Given the description of an element on the screen output the (x, y) to click on. 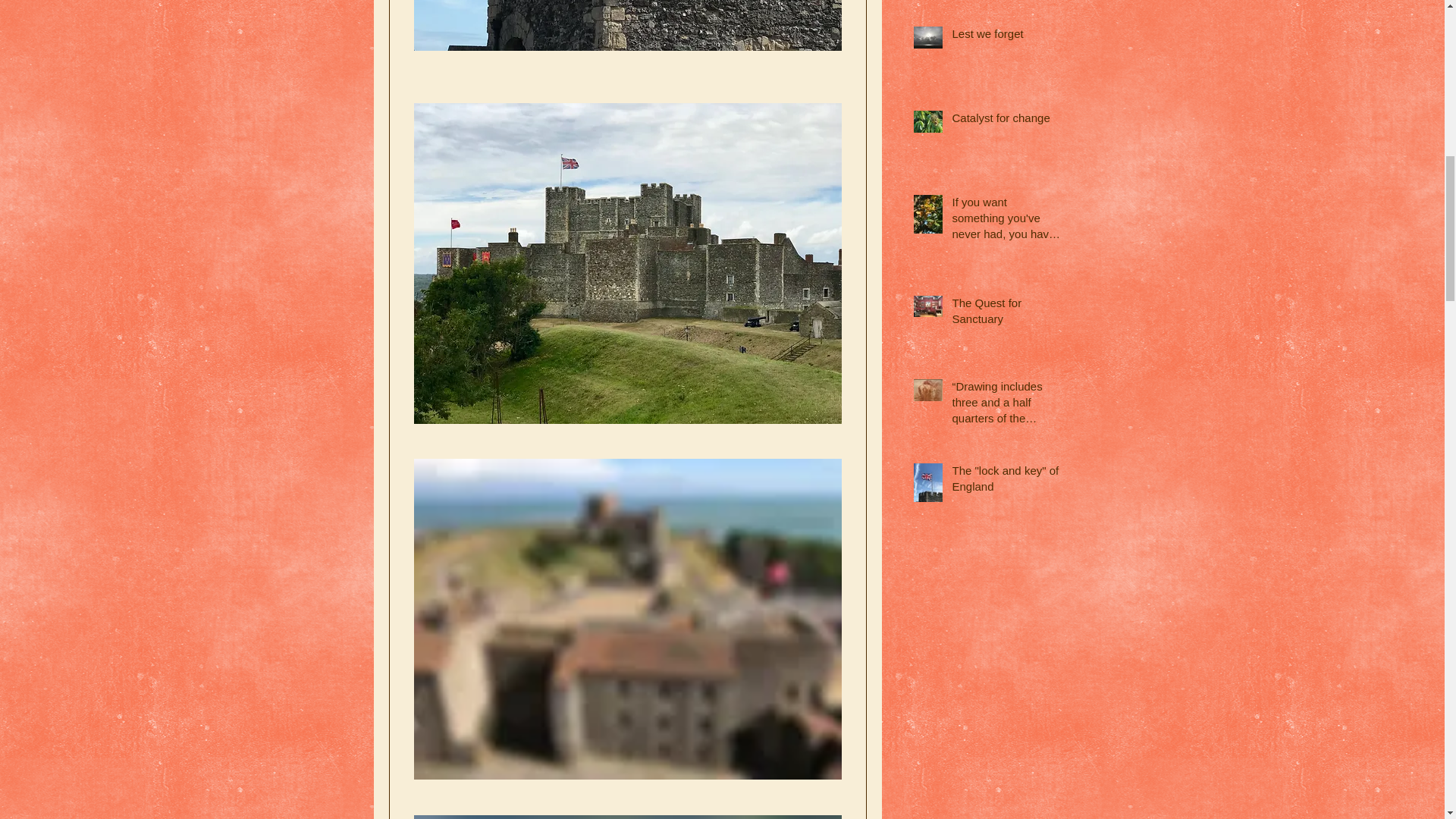
The Quest for Sanctuary (1006, 313)
The "lock and key" of England (1006, 481)
Catalyst for change (1006, 120)
Lest we forget (1006, 36)
